Given the description of an element on the screen output the (x, y) to click on. 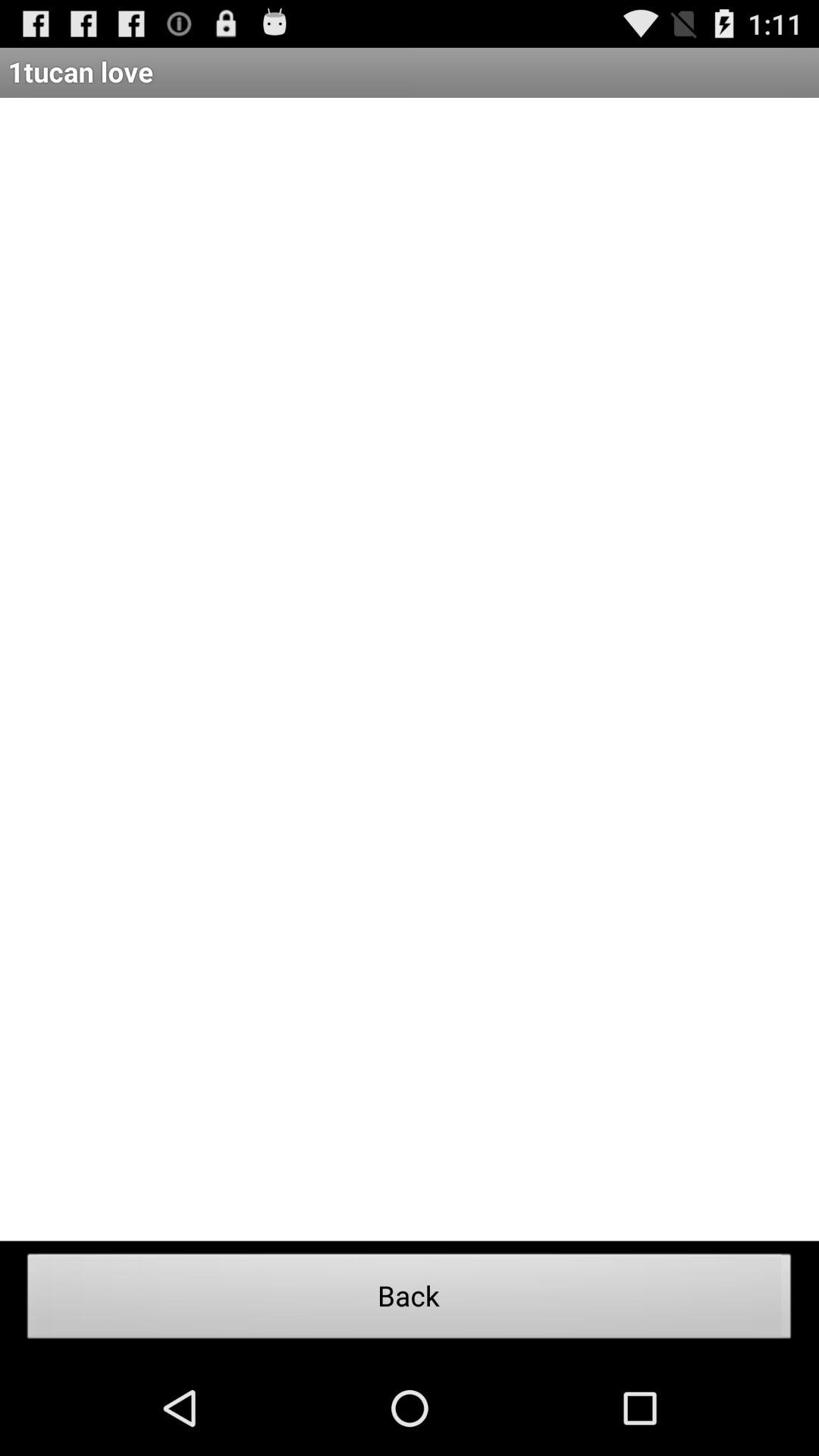
choose icon at the center (409, 669)
